Given the description of an element on the screen output the (x, y) to click on. 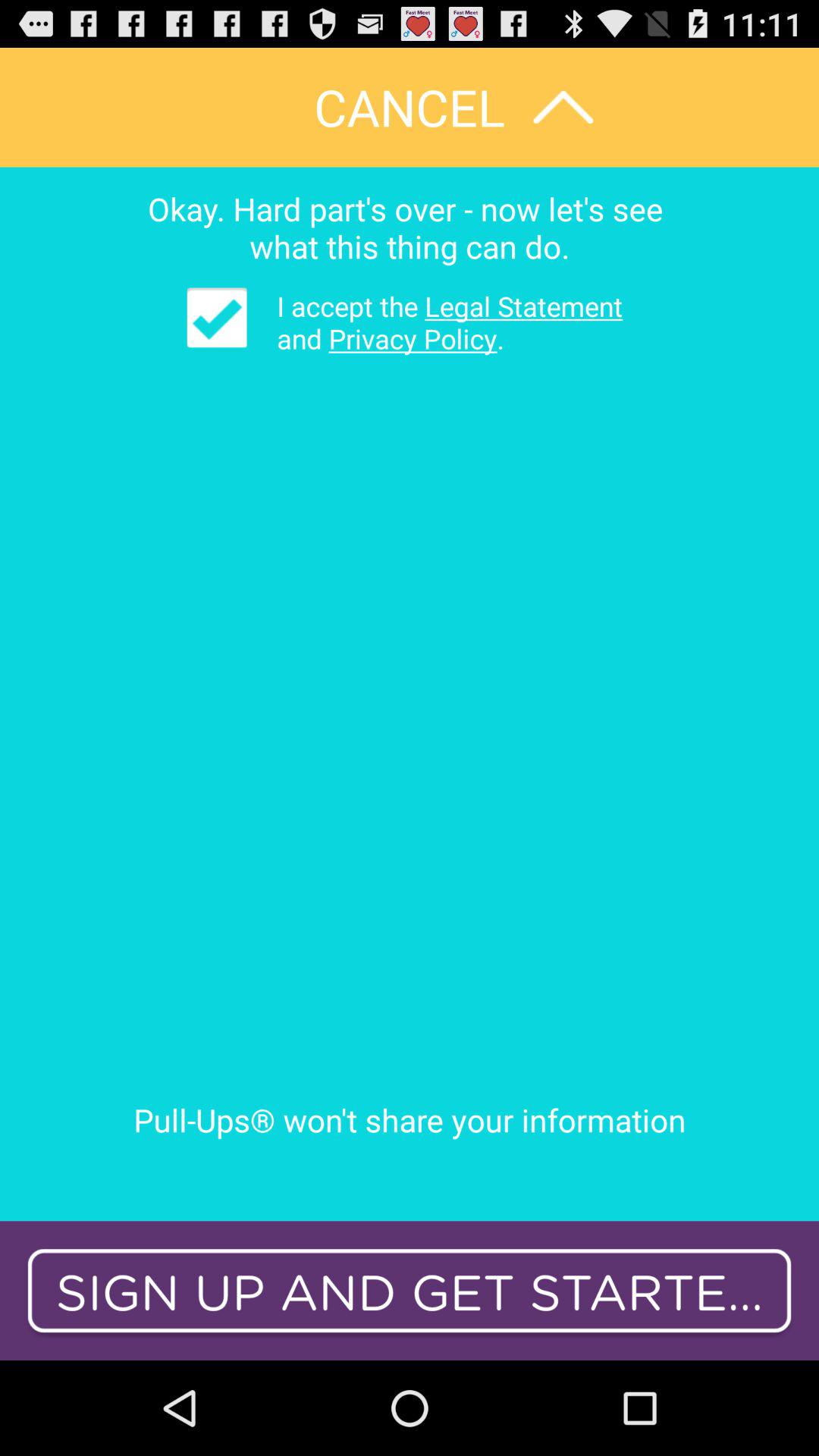
toggle accepting legal statement (216, 317)
